Given the description of an element on the screen output the (x, y) to click on. 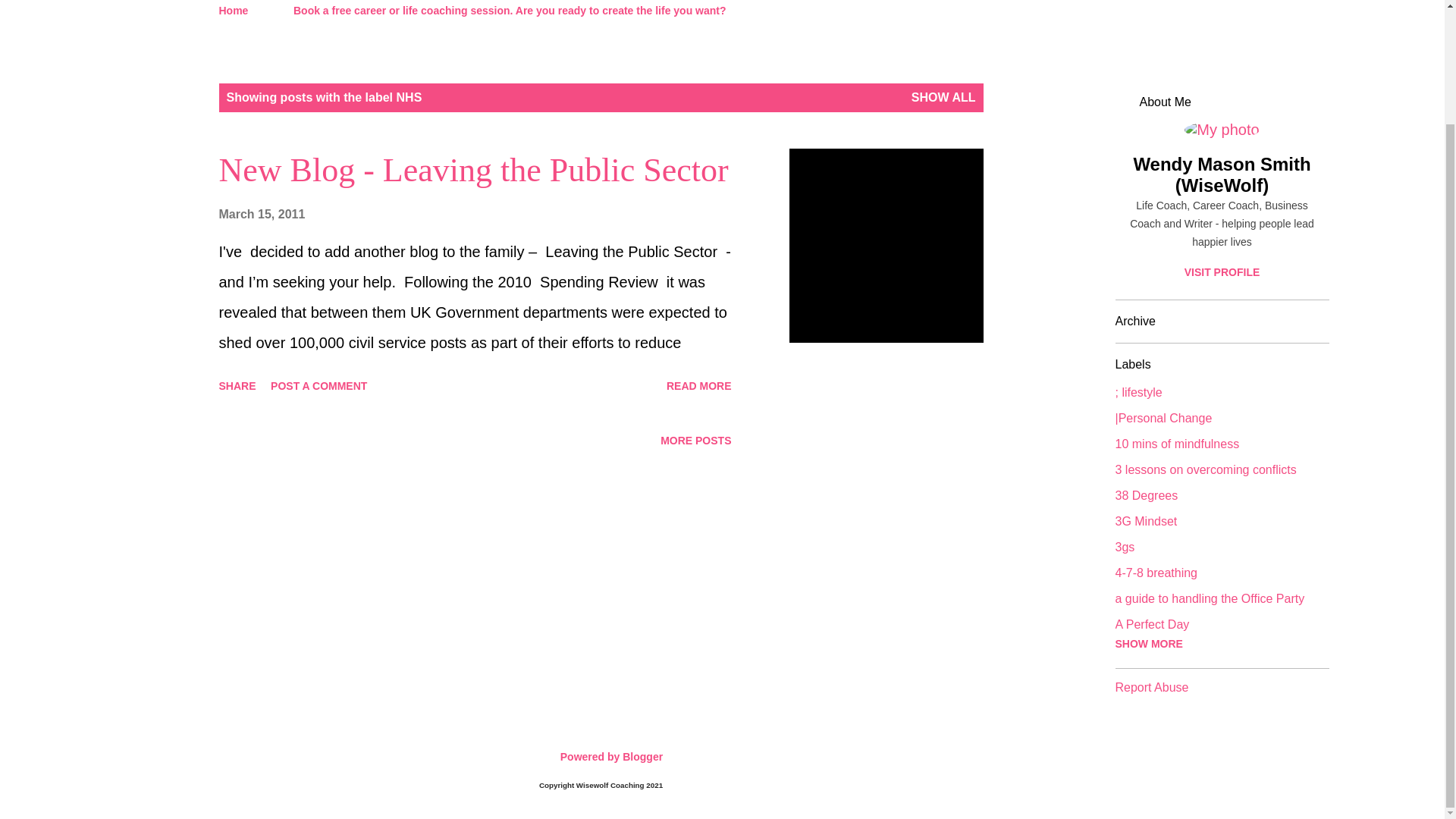
SHOW ALL (943, 97)
Home (237, 12)
permanent link (261, 214)
READ MORE (699, 385)
MORE POSTS (694, 440)
New Blog - Leaving the Public Sector (473, 170)
More posts (694, 440)
New Blog - Leaving the Public Sector (699, 385)
POST A COMMENT (318, 385)
VISIT PROFILE (1221, 272)
SHARE (237, 385)
March 15, 2011 (261, 214)
